Given the description of an element on the screen output the (x, y) to click on. 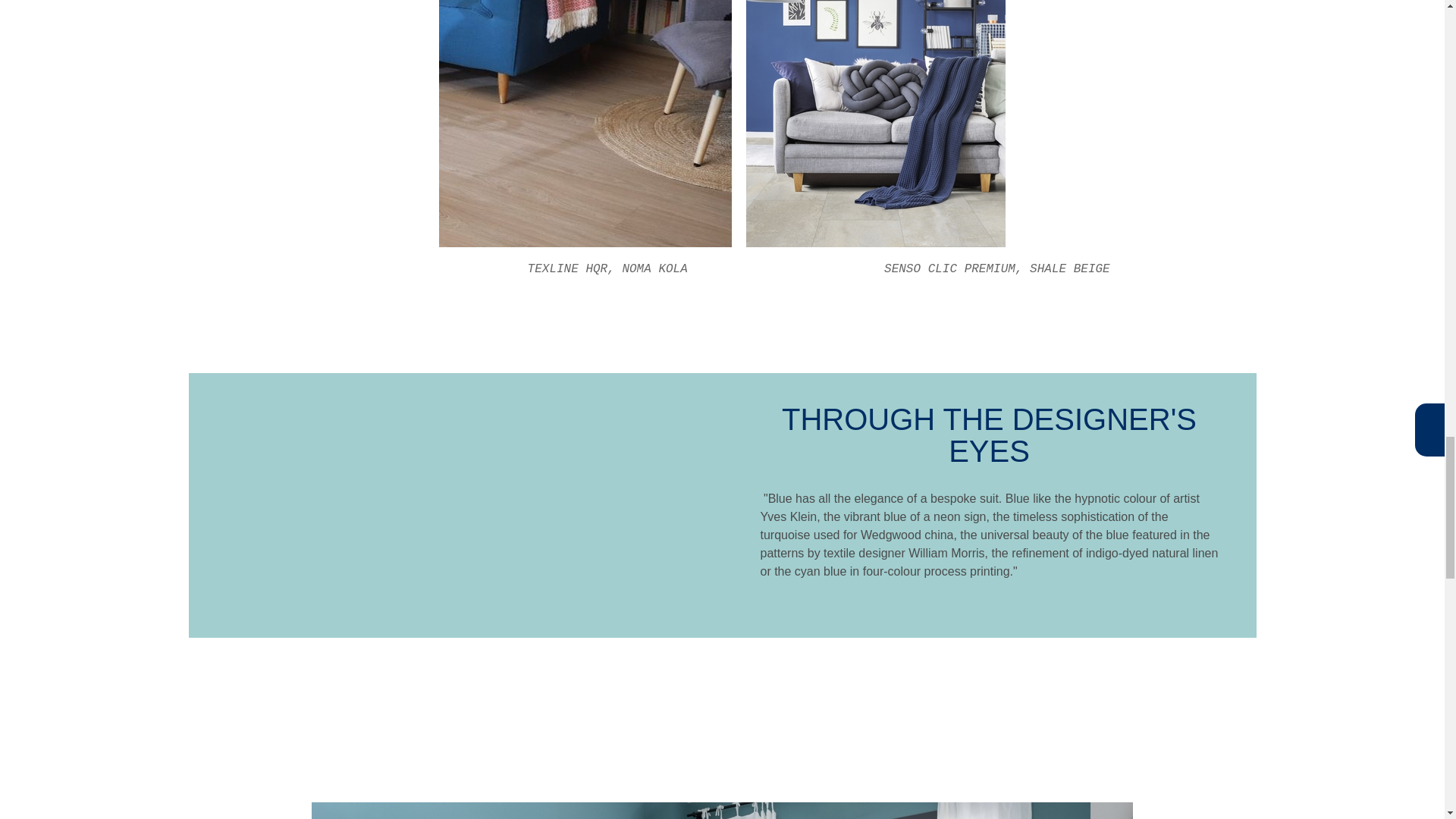
2 4 (875, 123)
 2 5 (721, 810)
Capture Deep (586, 123)
